Given the description of an element on the screen output the (x, y) to click on. 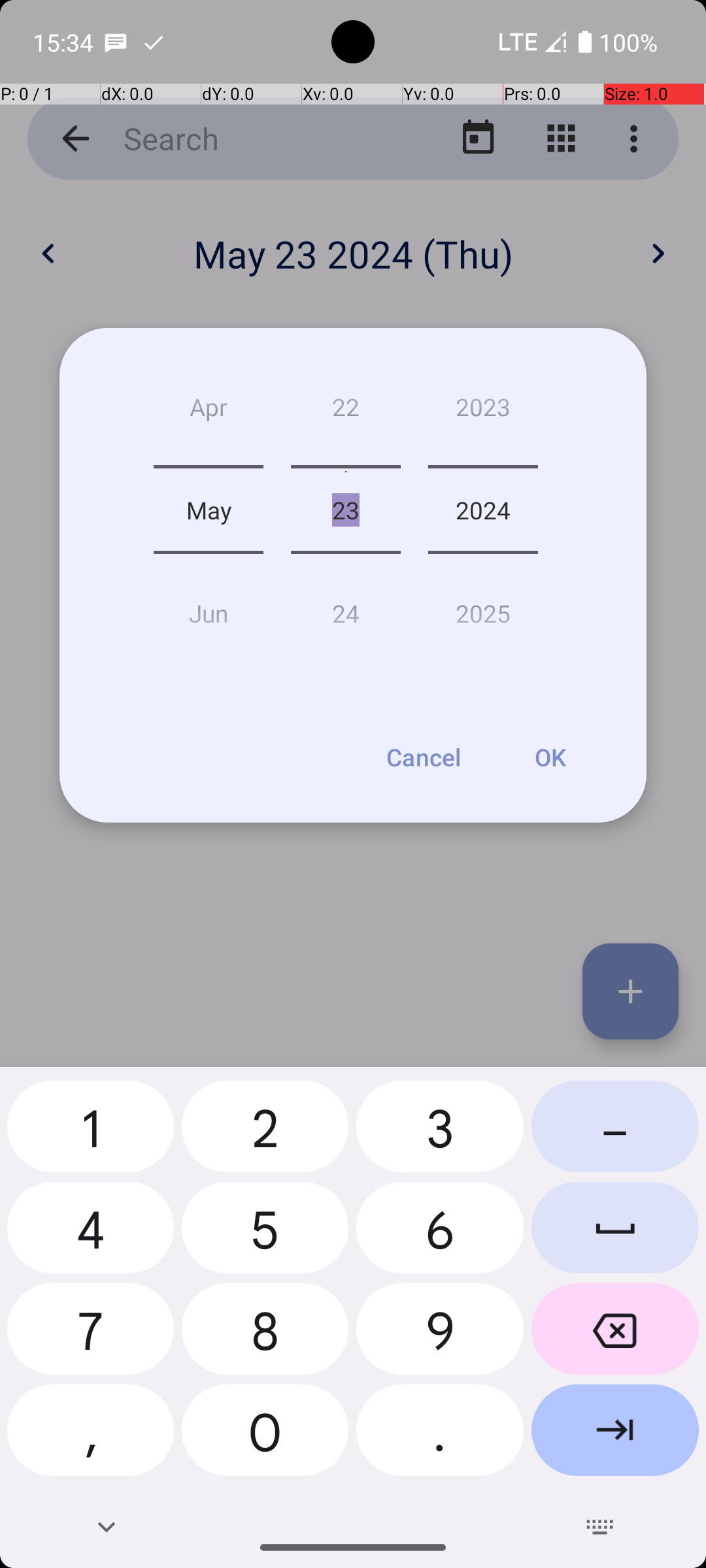
Apr Element type: android.widget.Button (208, 411)
May Element type: android.widget.EditText (208, 509)
Jun Element type: android.widget.Button (208, 607)
2025 Element type: android.widget.Button (482, 607)
